Given the description of an element on the screen output the (x, y) to click on. 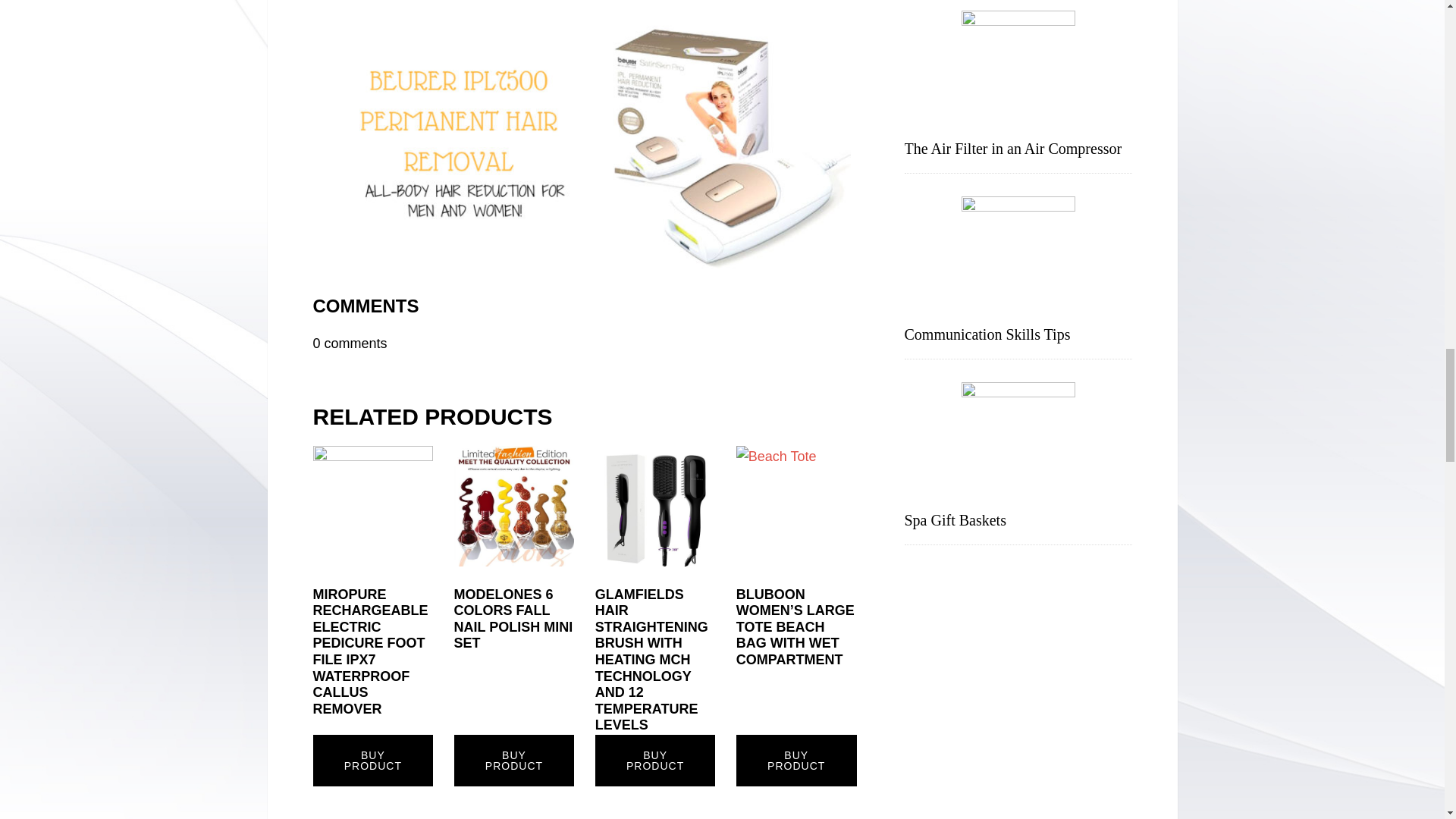
Communication Skills Tips (987, 334)
BUY PRODUCT (655, 760)
Spa Gift Baskets (955, 519)
BUY PRODUCT (514, 760)
BUY PRODUCT (372, 760)
The Air Filter in an Air Compressor (1012, 148)
BUY PRODUCT (796, 760)
